Given the description of an element on the screen output the (x, y) to click on. 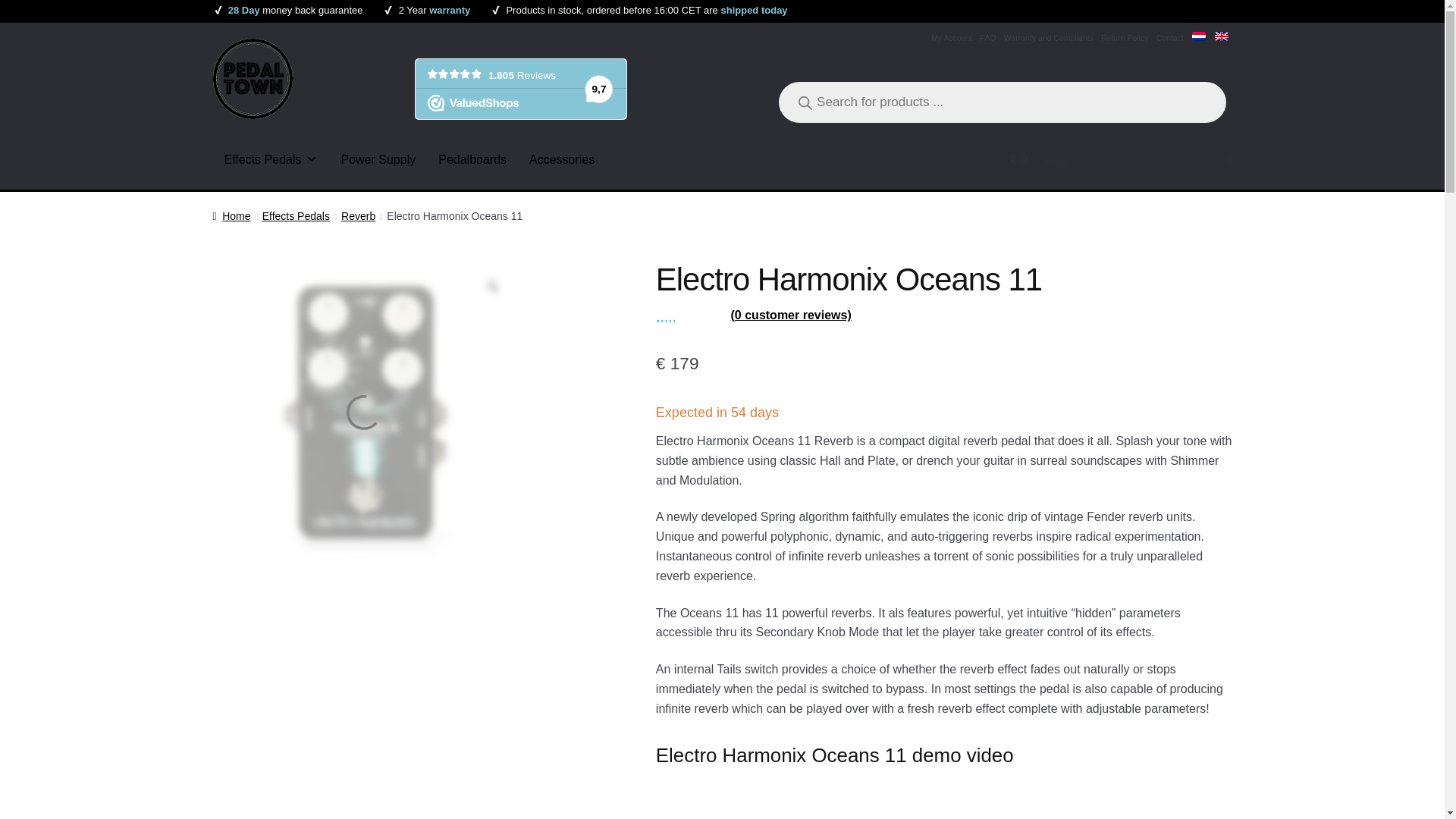
Electro-Harmonix-oceans-11 (365, 413)
Warranty and Complaints (1048, 38)
Contact (1170, 38)
Return Policy (1125, 38)
My Account (951, 38)
Effects Pedals (270, 159)
FAQ (986, 38)
View your shopping cart (1120, 159)
